Given the description of an element on the screen output the (x, y) to click on. 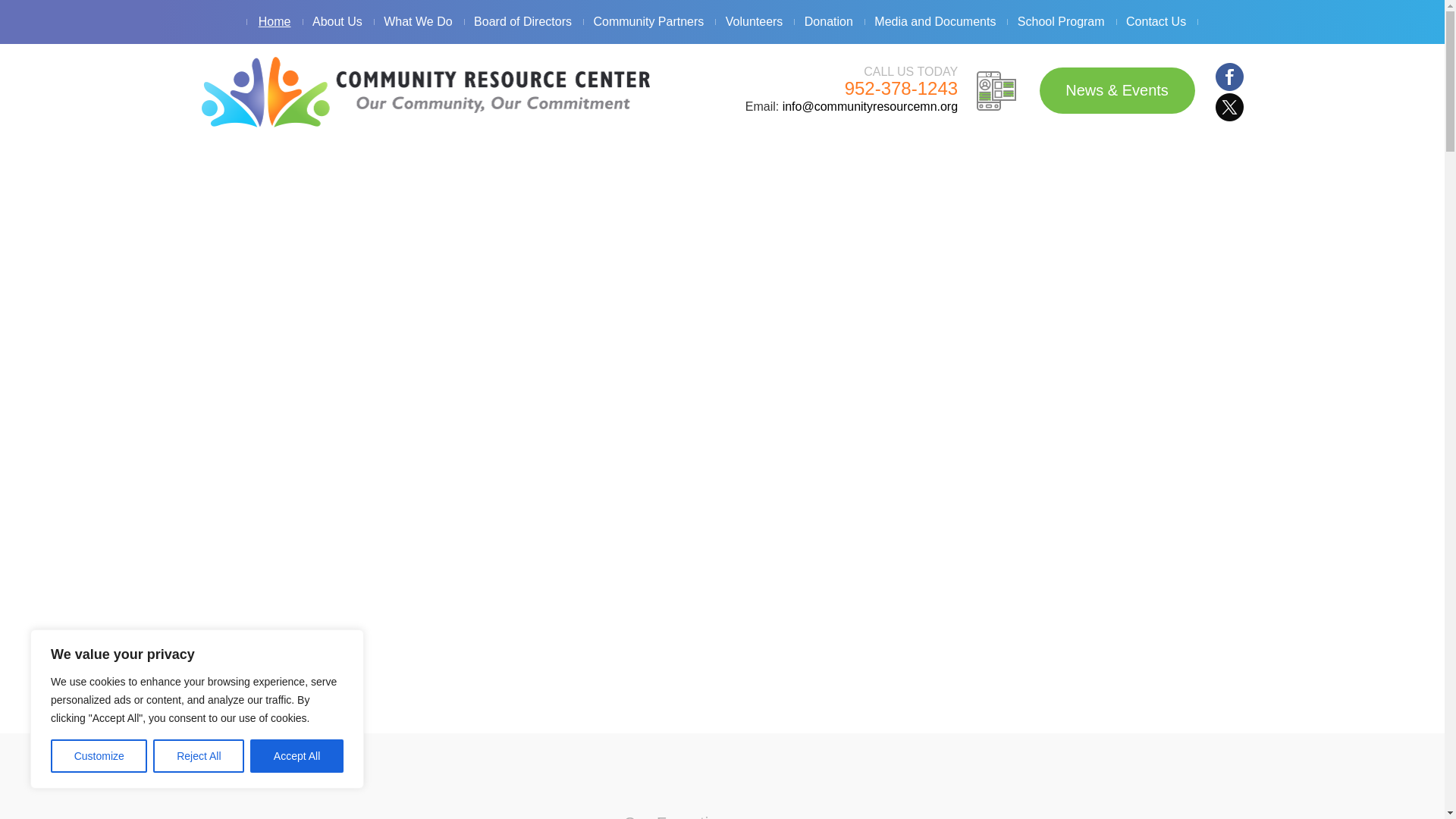
Volunteers (754, 22)
Home (273, 22)
Customize (98, 756)
Media and Documents (934, 22)
School Program (1061, 22)
What We Do (417, 22)
Donation (827, 22)
About Us (336, 22)
Board of Directors (522, 22)
Accept All (296, 756)
